Given the description of an element on the screen output the (x, y) to click on. 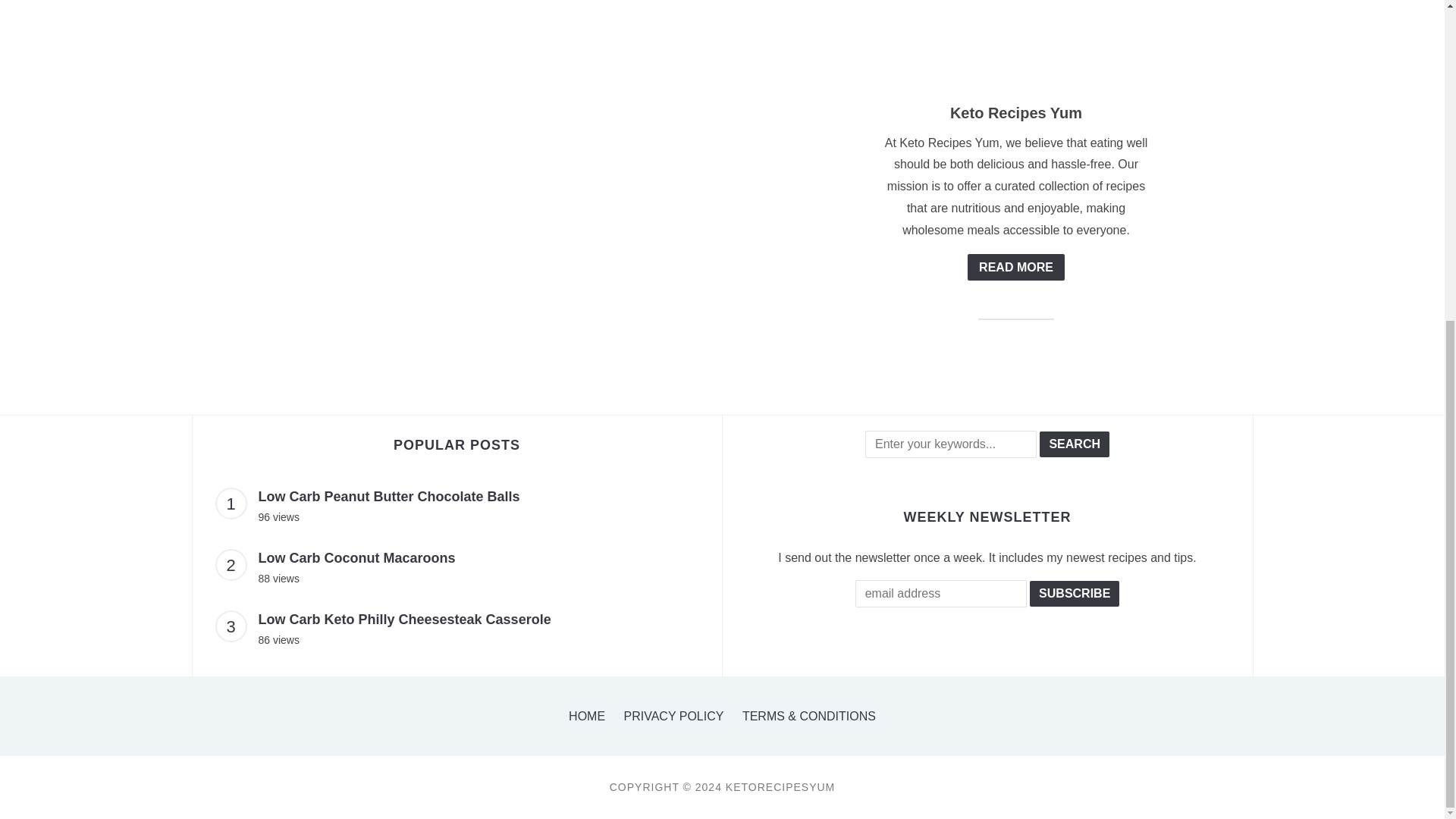
Subscribe (1074, 593)
Search (1074, 444)
Low Carb Coconut Macaroons (355, 557)
Low Carb Peanut Butter Chocolate Balls (388, 496)
Permanent Link to Low Carb Keto Philly Cheesesteak Casserole (403, 619)
PRIVACY POLICY (673, 716)
Subscribe (1074, 593)
READ MORE (1016, 267)
Permanent Link to Low Carb Peanut Butter Chocolate Balls (388, 496)
Low Carb Keto Philly Cheesesteak Casserole (403, 619)
HOME (587, 716)
Permanent Link to Low Carb Coconut Macaroons (355, 557)
Search (1074, 444)
Search (1074, 444)
